Given the description of an element on the screen output the (x, y) to click on. 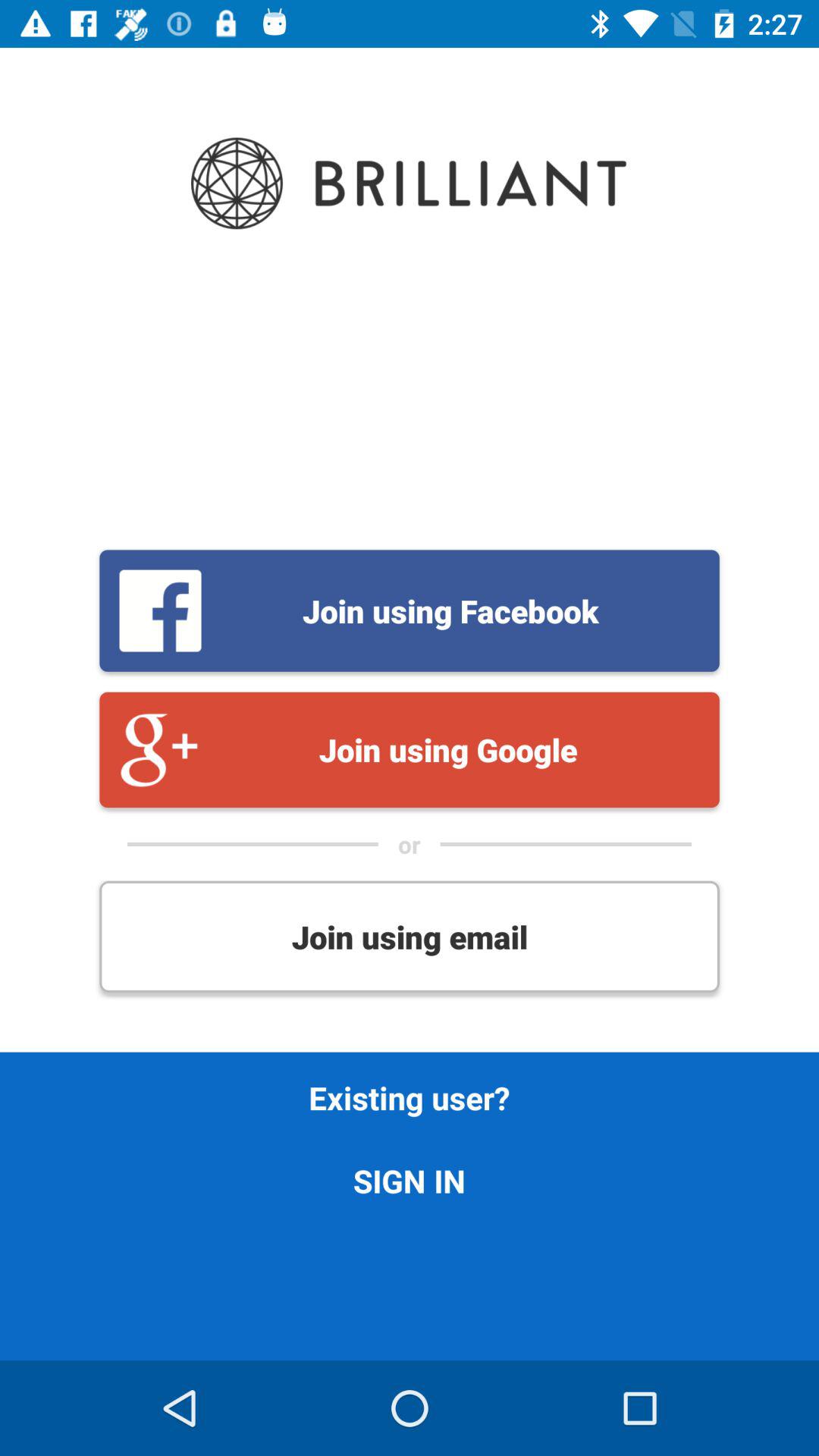
jump to sign in icon (409, 1180)
